Given the description of an element on the screen output the (x, y) to click on. 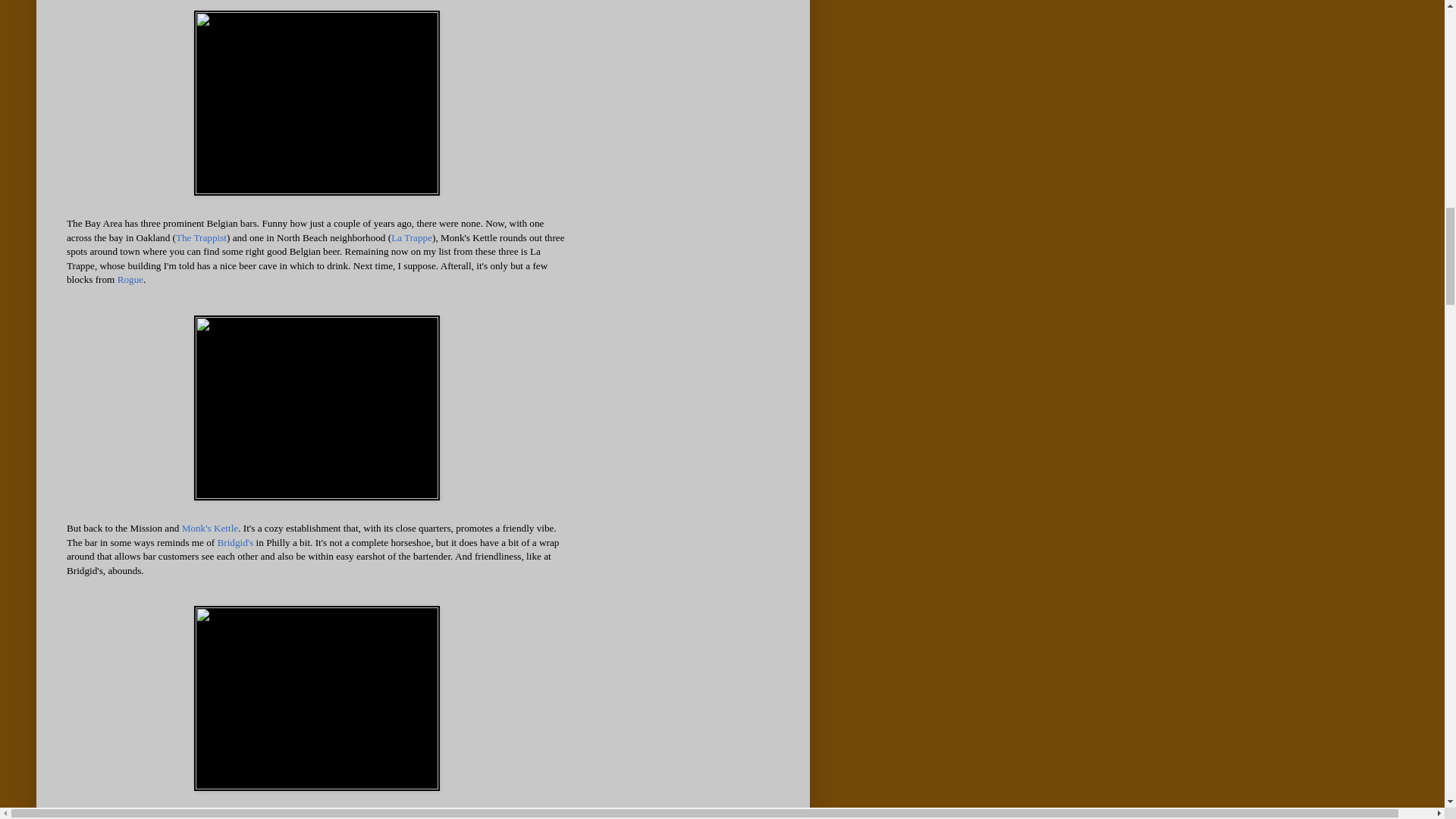
La Trappe (411, 237)
Rogue (129, 279)
Monk's Kettle (210, 527)
Bridgid's (234, 542)
The Trappist (201, 237)
